Given the description of an element on the screen output the (x, y) to click on. 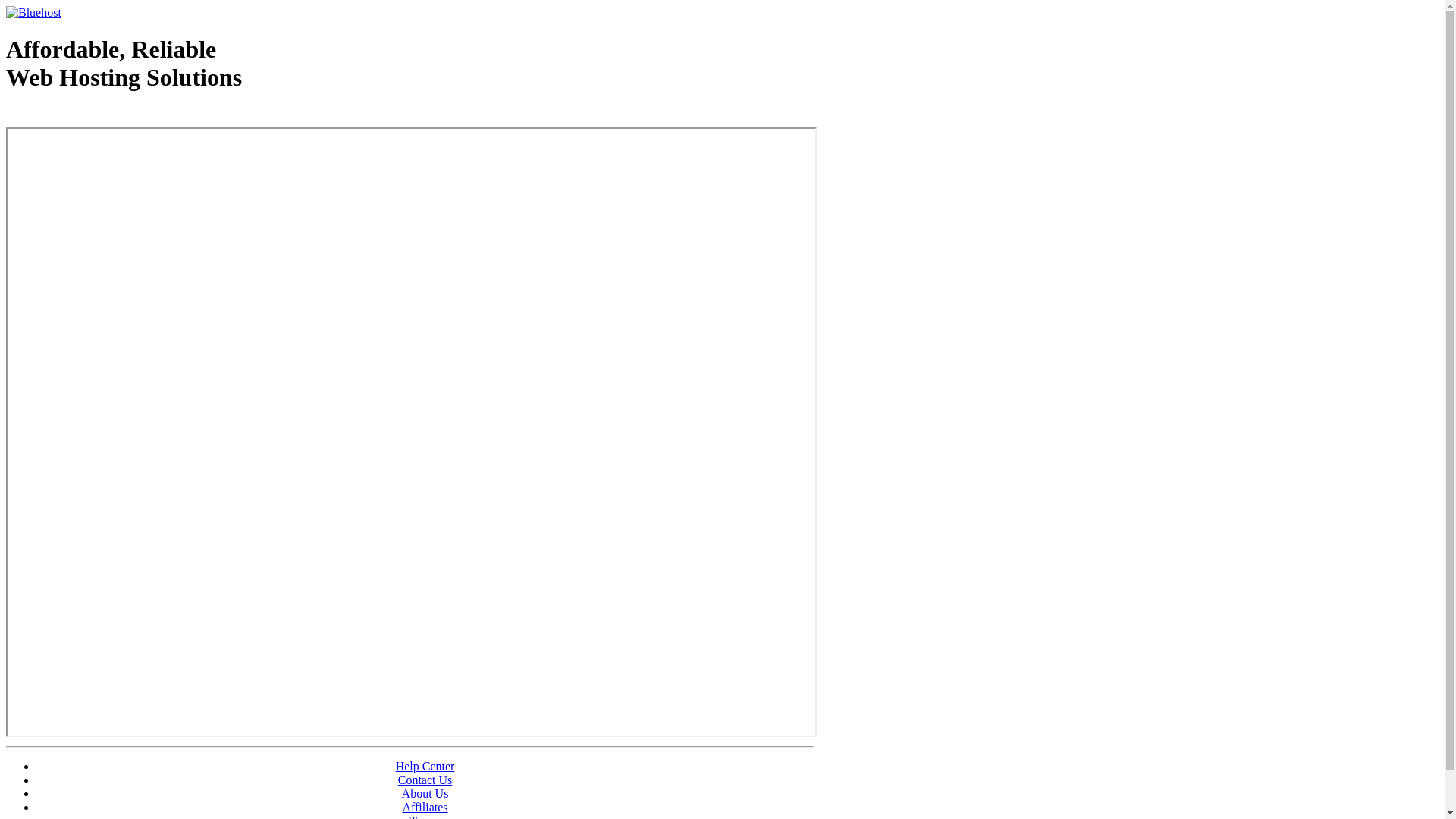
Contact Us Element type: text (425, 779)
Help Center Element type: text (425, 765)
About Us Element type: text (424, 793)
Web Hosting - courtesy of www.bluehost.com Element type: text (94, 115)
Affiliates Element type: text (424, 806)
